Given the description of an element on the screen output the (x, y) to click on. 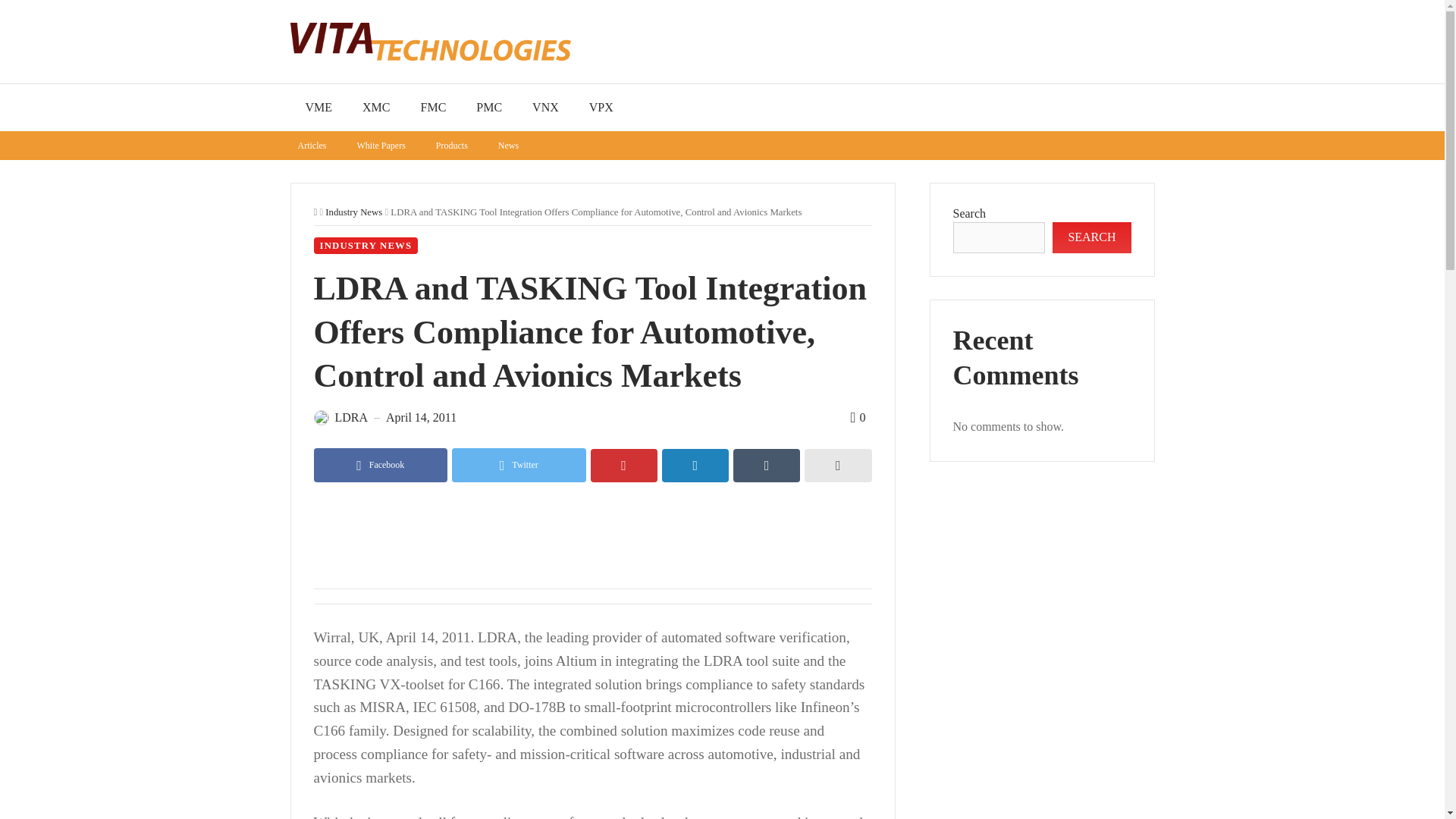
XMC (375, 107)
Products (451, 145)
April 14, 2011 (421, 417)
Twitter (518, 464)
News (508, 145)
INDUSTRY NEWS (366, 245)
PMC (488, 107)
VNX (544, 107)
White Papers (380, 145)
VPX (600, 107)
